Given the description of an element on the screen output the (x, y) to click on. 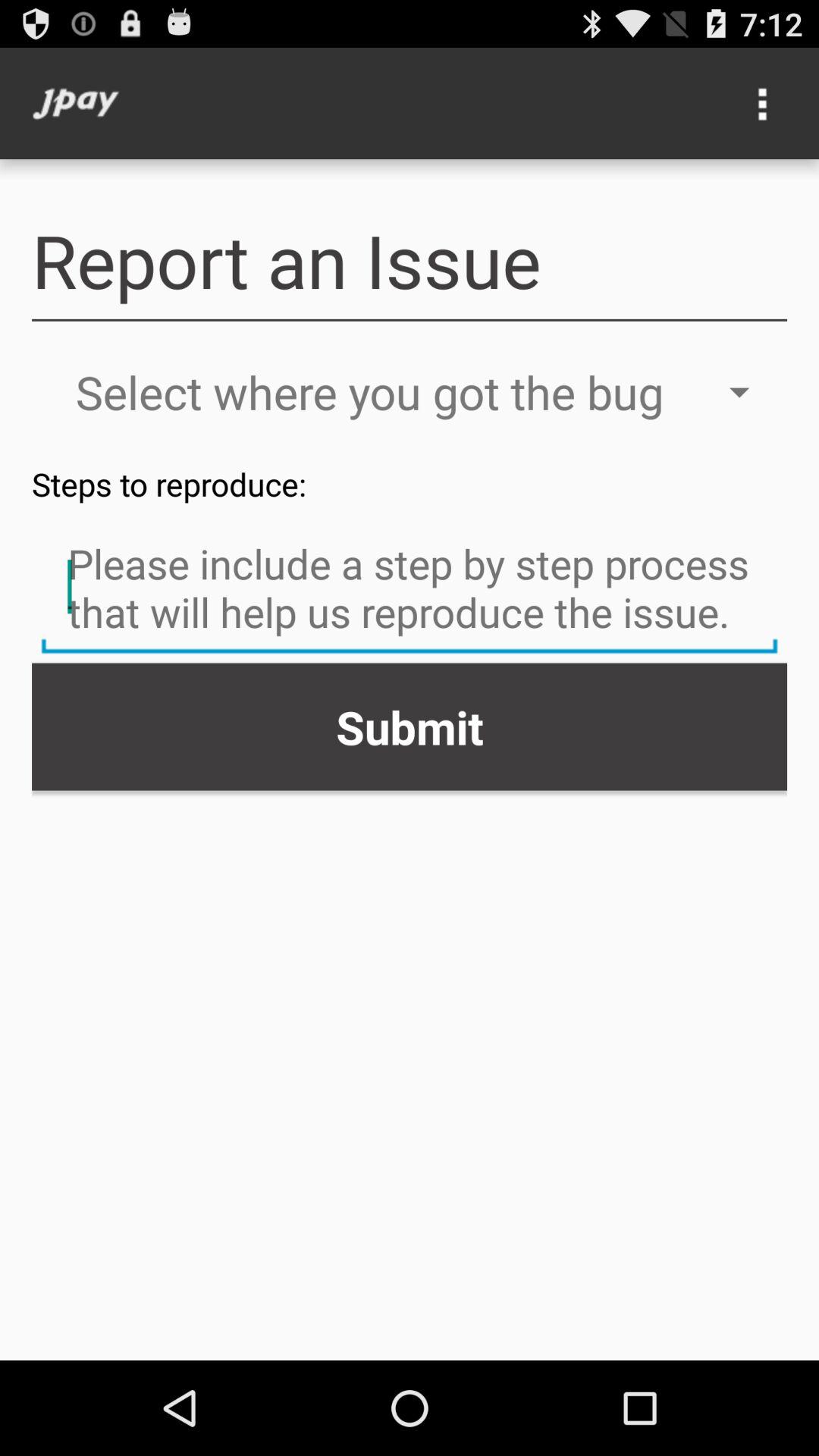
select option botton (763, 103)
